Given the description of an element on the screen output the (x, y) to click on. 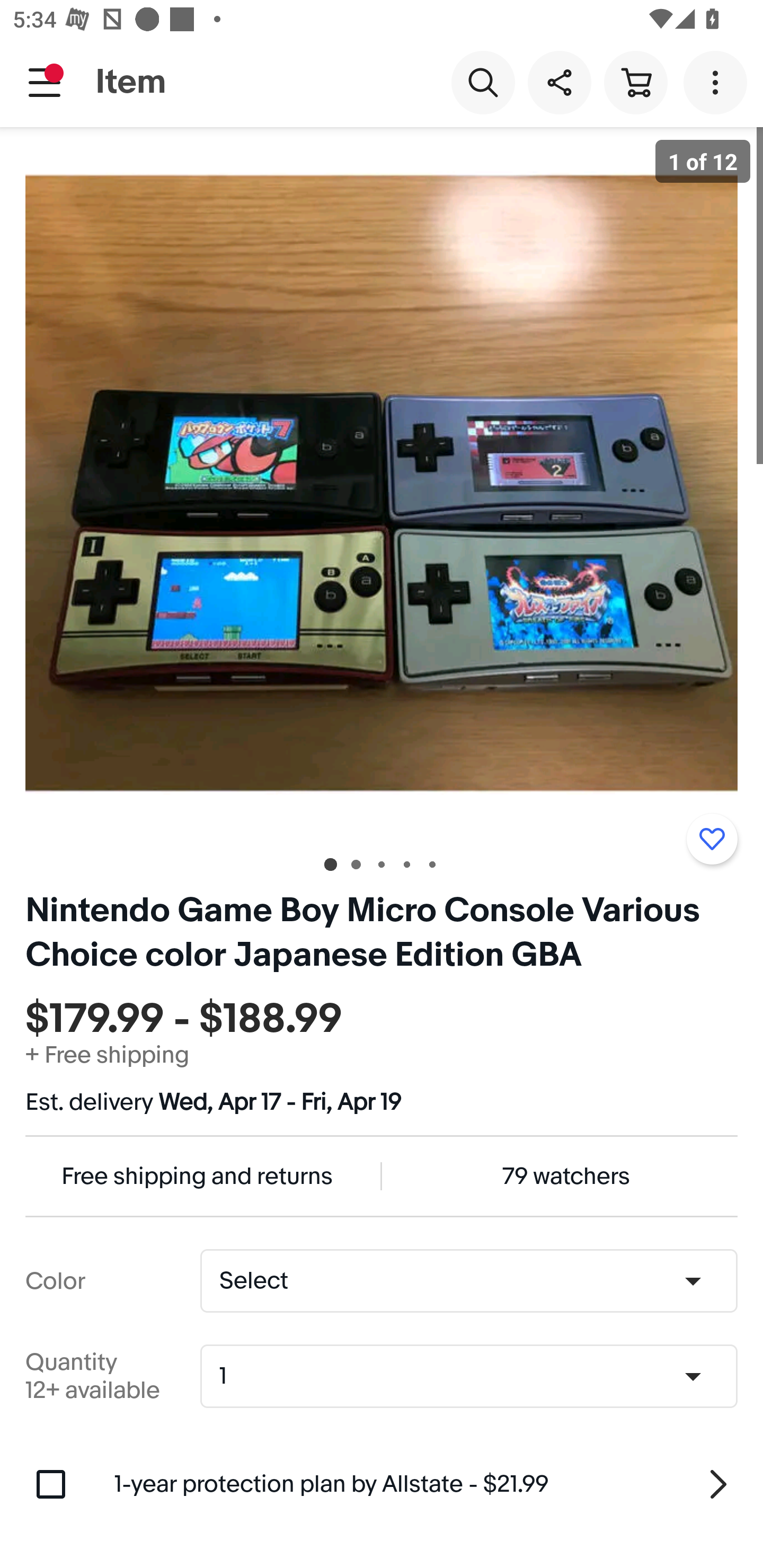
Main navigation, notification is pending, open (44, 82)
Search (482, 81)
Share this item (559, 81)
Cart button shopping cart (635, 81)
More options (718, 81)
Item image 1 of 12 (381, 482)
Add to watchlist (711, 838)
Color,No selection Select (468, 1280)
Quantity,1,12+ available 1 (474, 1376)
1-year protection plan by Allstate - $21.99 (425, 1483)
